Given the description of an element on the screen output the (x, y) to click on. 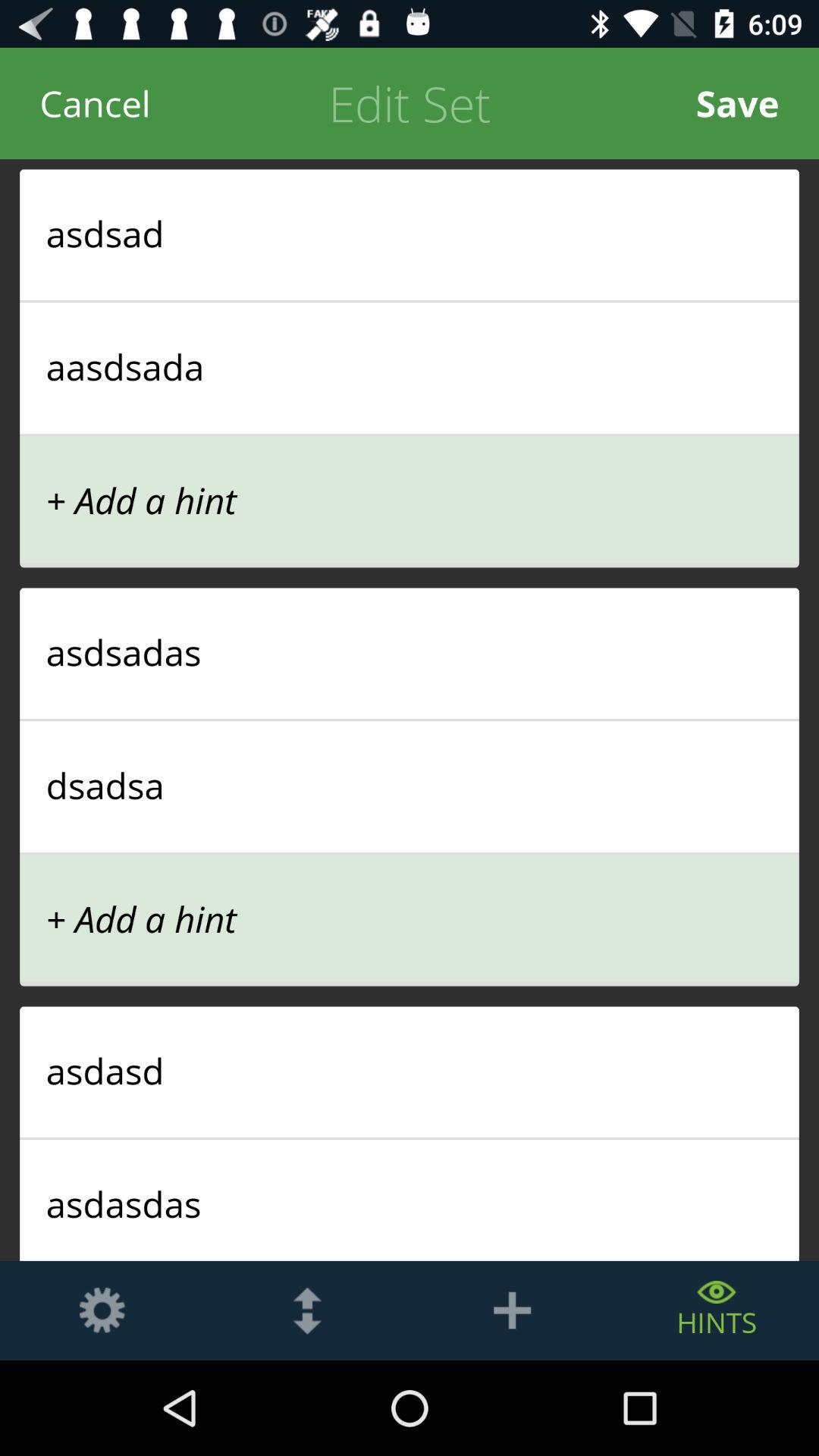
launch icon to the right of edit set (737, 103)
